Given the description of an element on the screen output the (x, y) to click on. 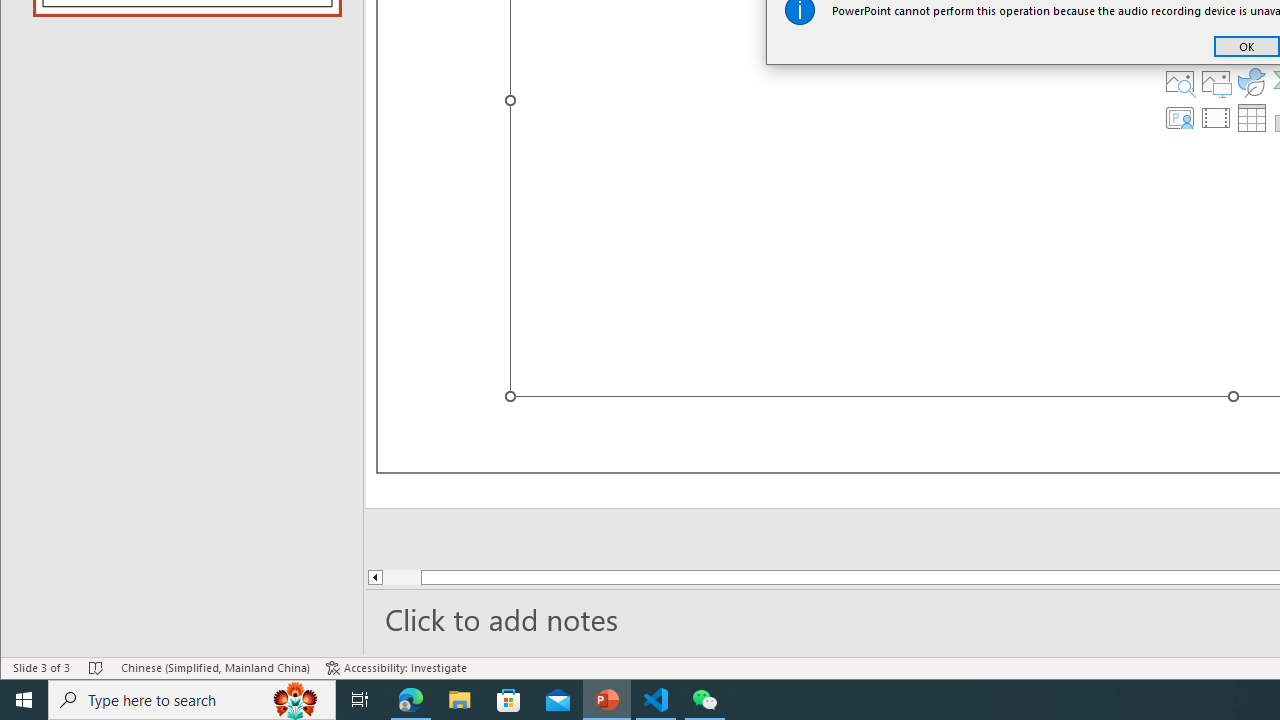
Insert Video (1215, 117)
